Given the description of an element on the screen output the (x, y) to click on. 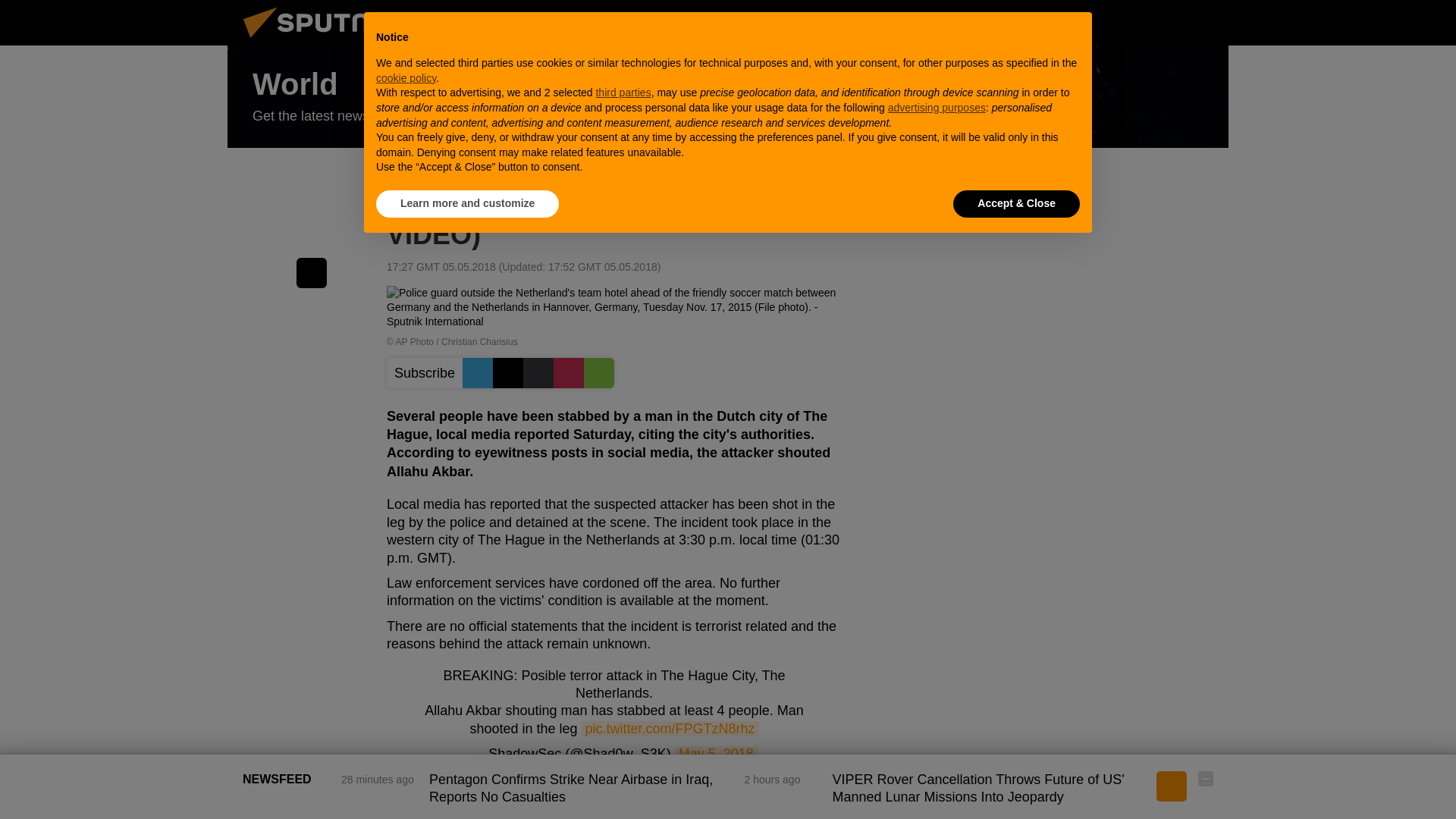
Authorization (1129, 22)
Sputnik International (325, 41)
Chats (1206, 22)
World (727, 96)
